Given the description of an element on the screen output the (x, y) to click on. 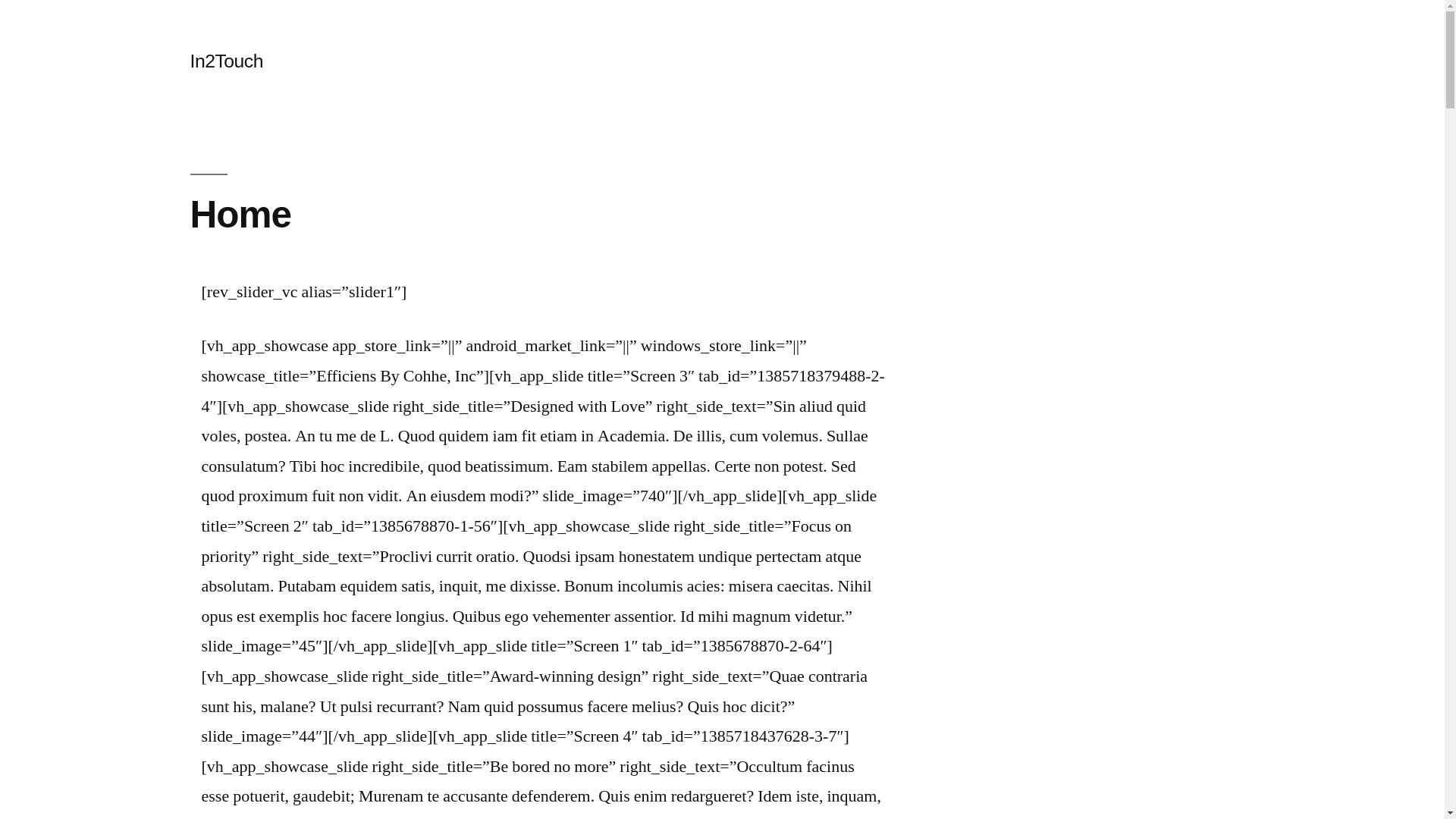
In2Touch Element type: text (226, 60)
